Given the description of an element on the screen output the (x, y) to click on. 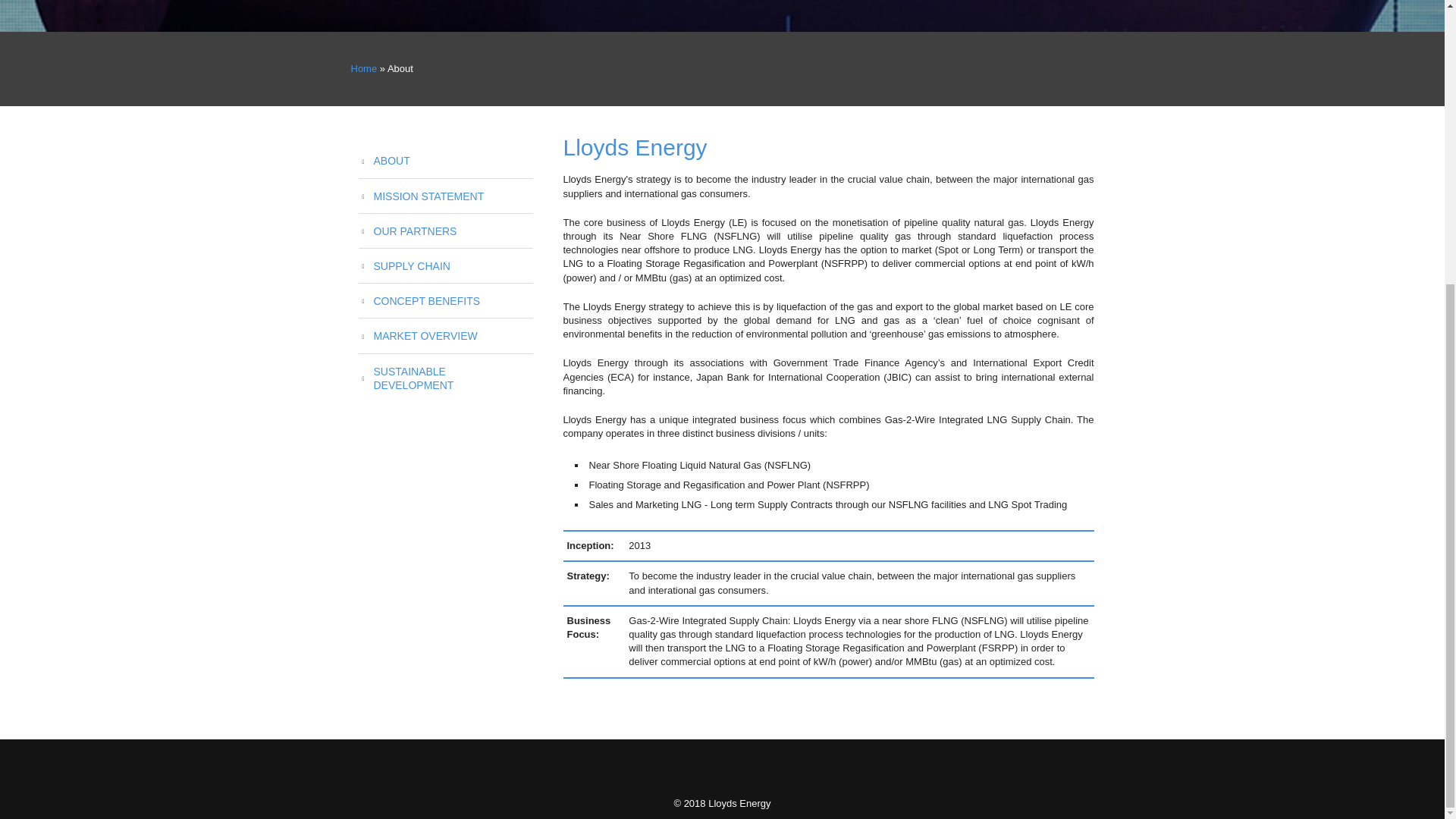
SUPPLY CHAIN (445, 265)
SUSTAINABLE DEVELOPMENT (445, 378)
ABOUT (445, 160)
OUR PARTNERS (445, 231)
MISSION STATEMENT (445, 195)
CONCEPT BENEFITS (445, 300)
MARKET OVERVIEW (445, 335)
Home (363, 68)
